Given the description of an element on the screen output the (x, y) to click on. 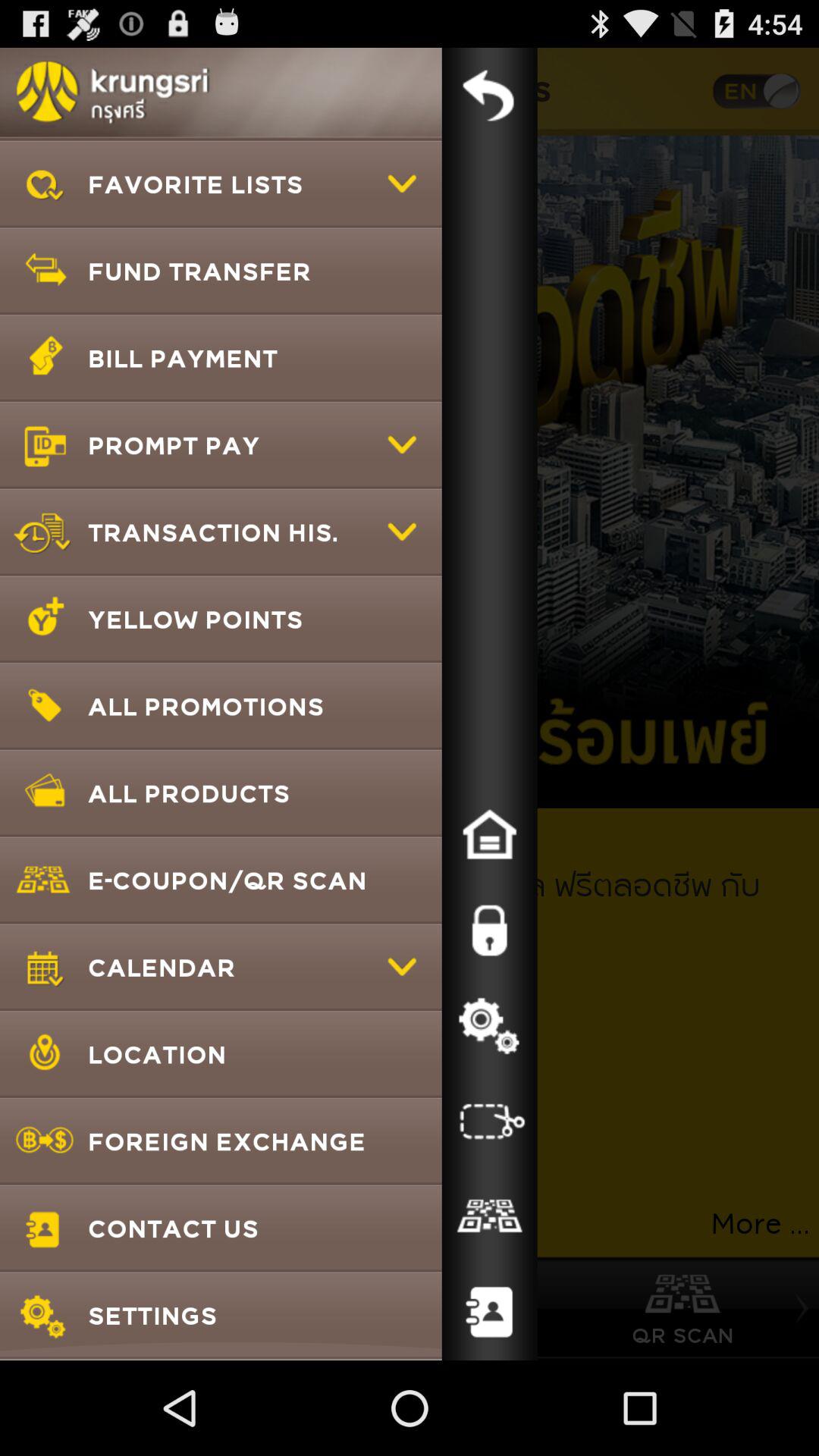
open item next to foreign exchange item (489, 1216)
